Given the description of an element on the screen output the (x, y) to click on. 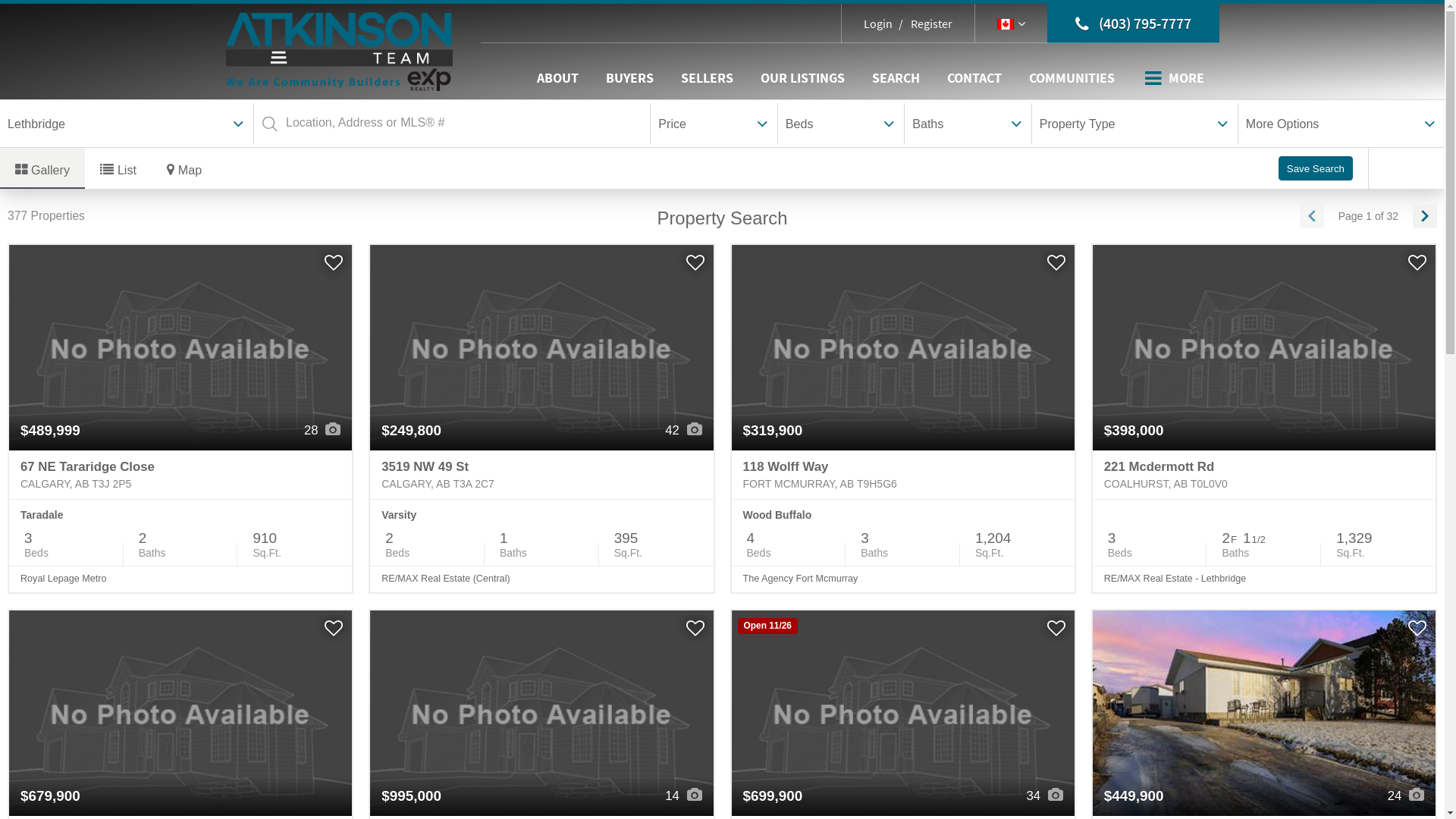
Home Page Element type: hover (339, 49)
Select Language Element type: hover (1011, 23)
Price Element type: text (713, 123)
$995,000
14 Element type: text (541, 712)
Register Element type: text (923, 23)
Beds Element type: text (840, 123)
Map Element type: text (183, 167)
Gallery Element type: text (42, 167)
$319,900 Element type: text (902, 347)
(403) 795-7777 Element type: text (1132, 23)
$449,900
24 Element type: text (1263, 712)
BUYERS Element type: text (628, 77)
List Element type: text (117, 167)
$398,000 Element type: text (1263, 347)
$489,999
28 Element type: text (180, 347)
SELLERS Element type: text (706, 77)
Save Search Element type: text (1315, 168)
MORE Element type: text (1174, 77)
More Options Element type: text (1341, 123)
221 Mcdermott Rd
COALHURST, AB T0L0V0 Element type: text (1263, 474)
CONTACT Element type: text (973, 77)
$699,900
34 Element type: text (902, 712)
Login Element type: text (877, 23)
Lethbridge Element type: text (126, 123)
$249,800
42 Element type: text (541, 347)
67 NE Tararidge Close
CALGARY, AB T3J 2P5 Element type: text (180, 474)
3519 NW 49 St
CALGARY, AB T3A 2C7 Element type: text (541, 474)
118 Wolff Way
FORT MCMURRAY, AB T9H5G6 Element type: text (902, 474)
Baths Element type: text (967, 123)
OUR LISTINGS Element type: text (801, 77)
SEARCH Element type: text (895, 77)
ABOUT Element type: text (557, 77)
Property Type Element type: text (1134, 123)
COMMUNITIES Element type: text (1071, 77)
$679,900 Element type: text (180, 712)
